Given the description of an element on the screen output the (x, y) to click on. 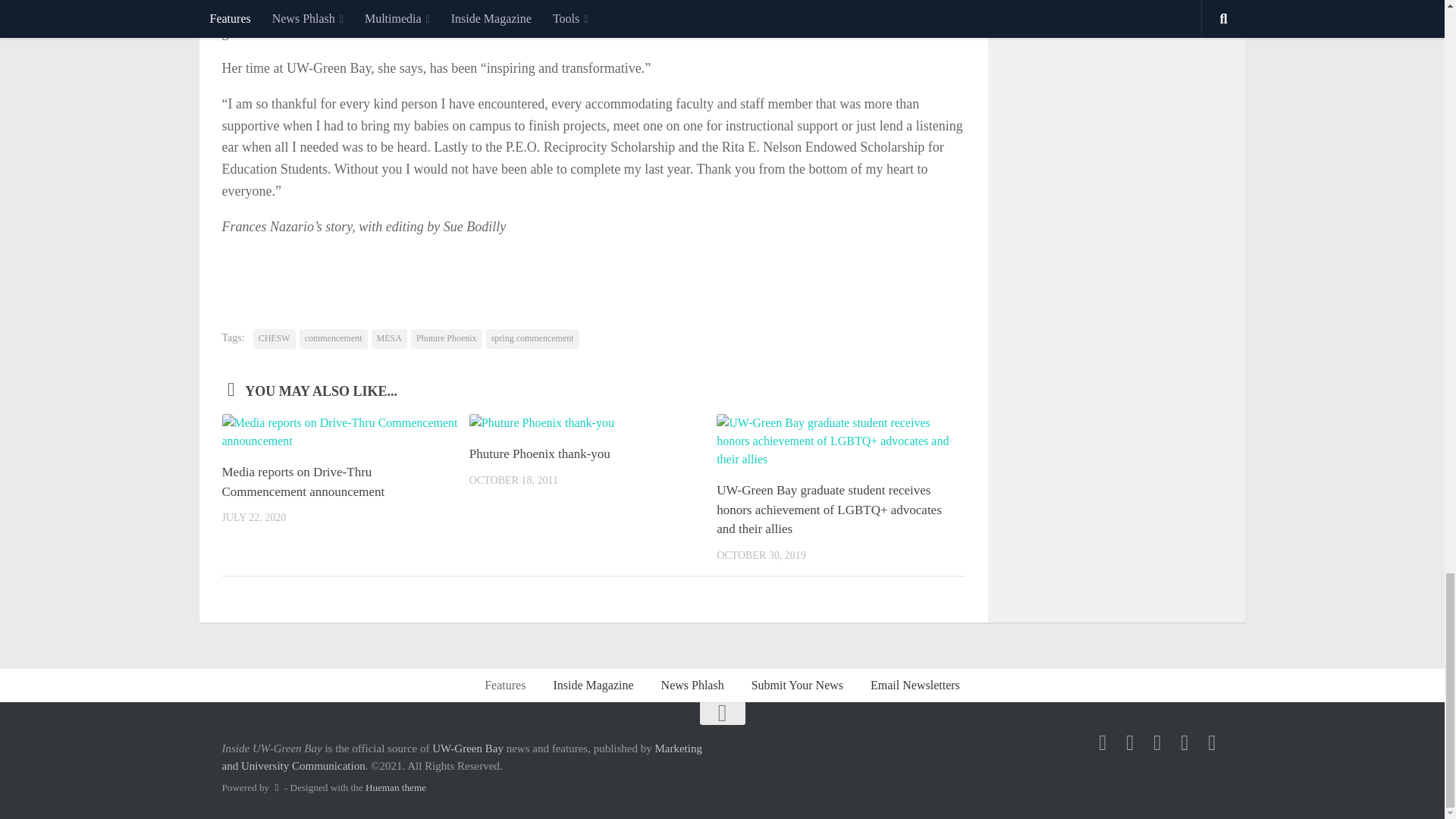
Phuture Phoenix (445, 338)
spring commencement (532, 338)
CHESW (274, 338)
MESA (389, 338)
Media reports on Drive-Thru Commencement announcement (302, 481)
commencement (333, 338)
Phuture Phoenix thank-you (539, 453)
